Given the description of an element on the screen output the (x, y) to click on. 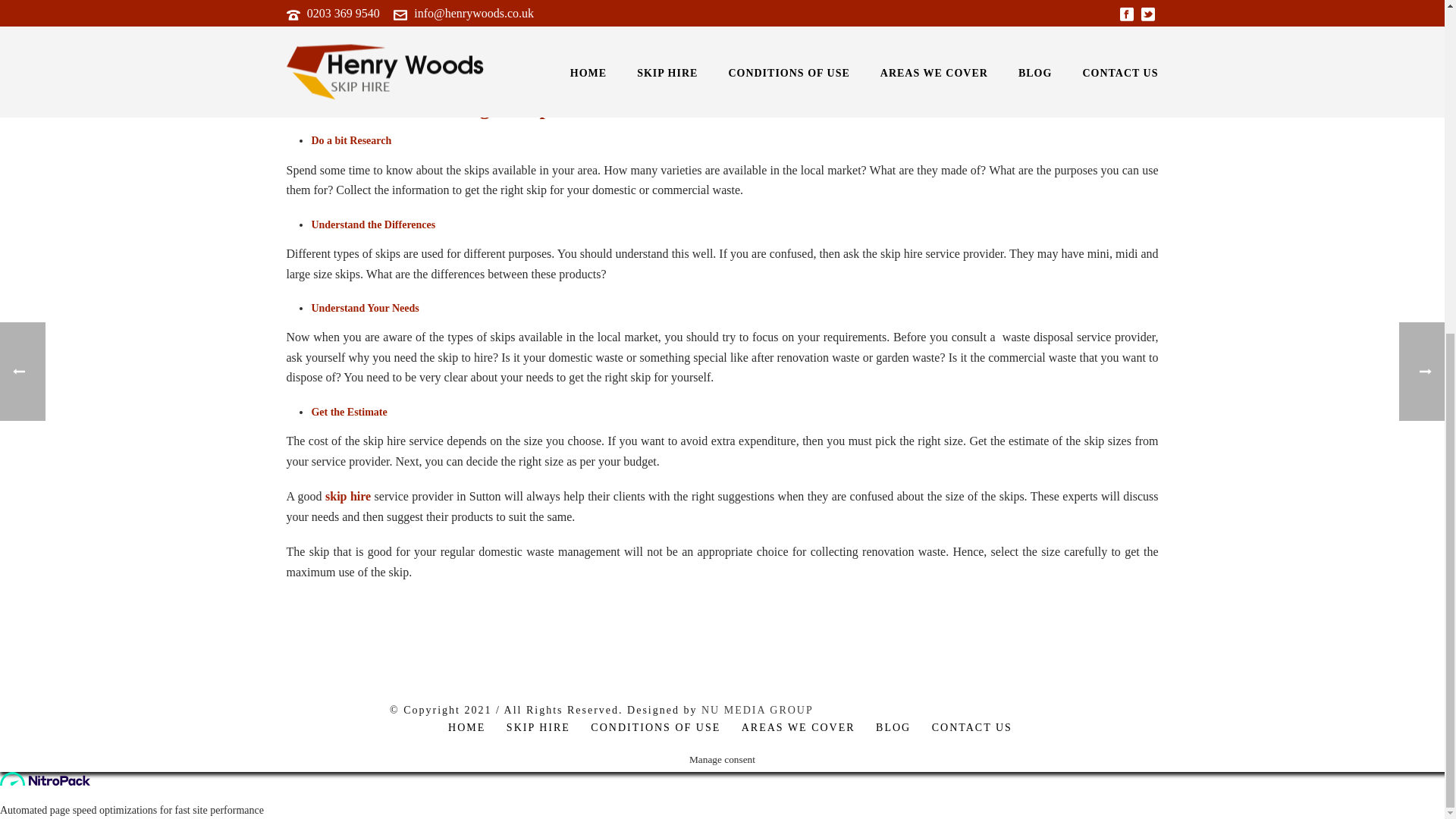
AREAS WE COVER (798, 727)
HOME (466, 727)
NU MEDIA GROUP (757, 709)
BLOG (893, 727)
SKIP HIRE (538, 727)
skip hire service seeker in Sutton (392, 69)
CONDITIONS OF USE (655, 727)
